Given the description of an element on the screen output the (x, y) to click on. 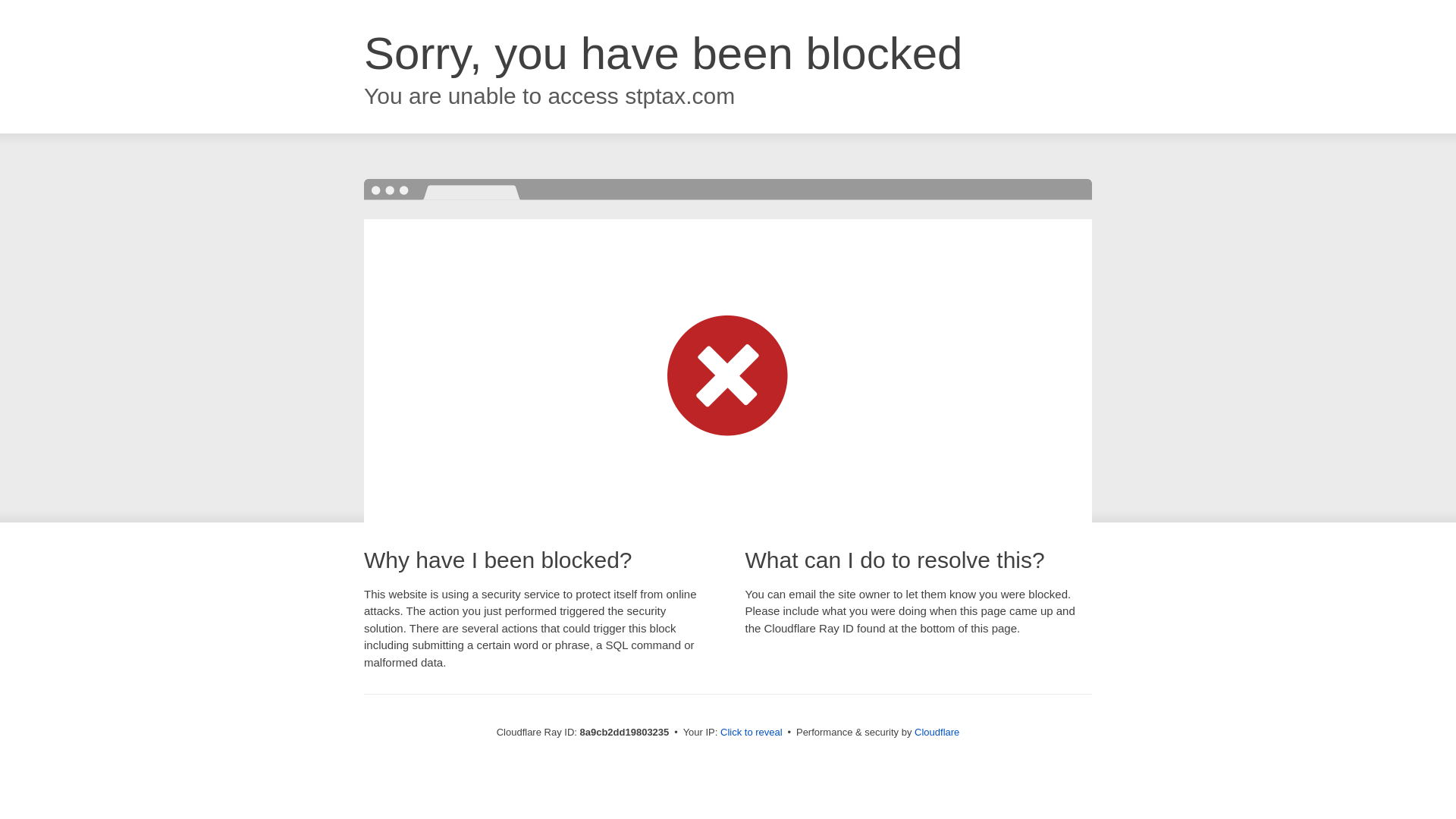
Click to reveal (751, 732)
Cloudflare (936, 731)
